Given the description of an element on the screen output the (x, y) to click on. 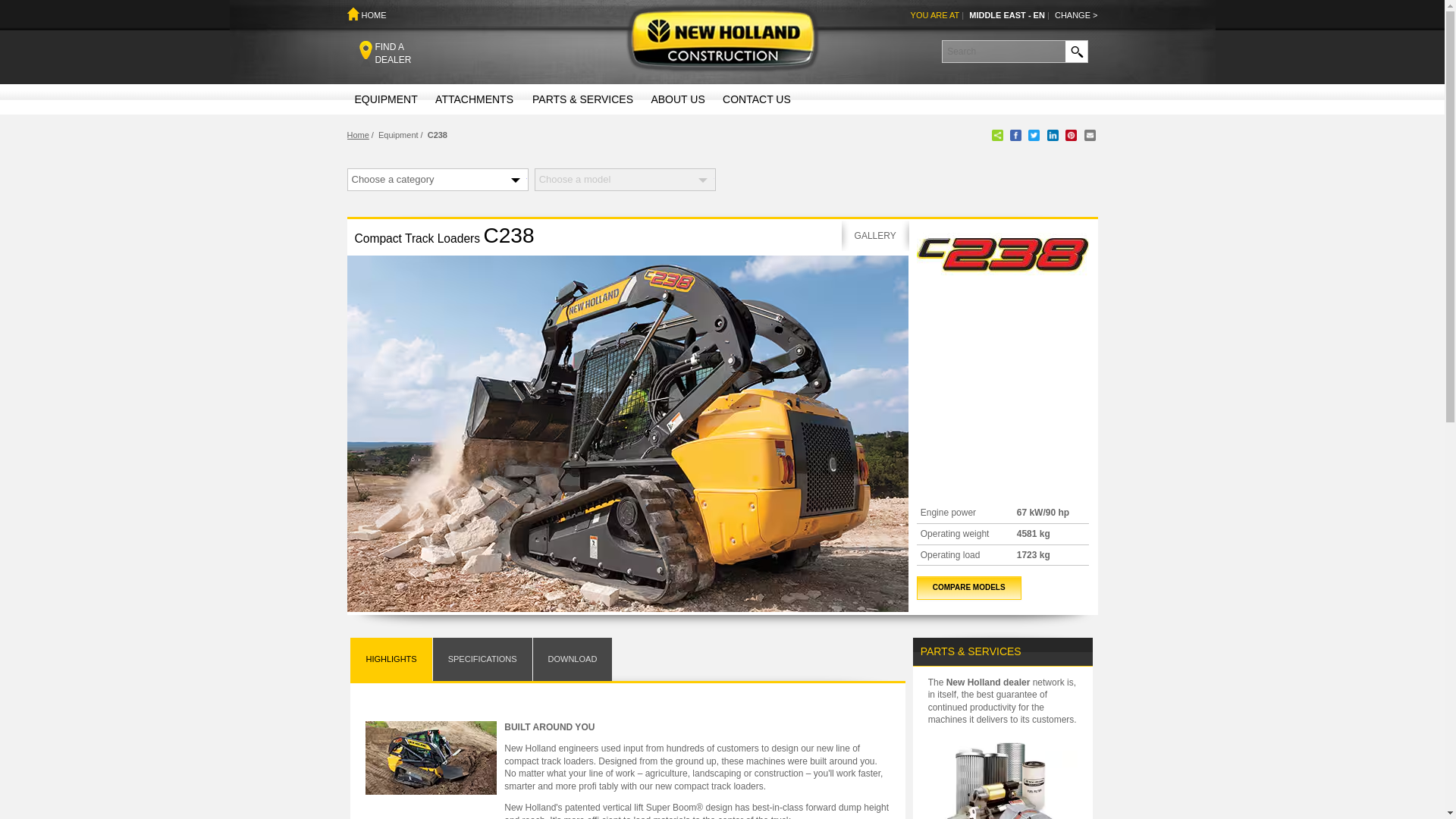
HOME (367, 15)
EQUIPMENT (384, 55)
Cerca (385, 99)
Cerca (1075, 51)
Cerca (1075, 51)
ATTACHMENTS (1075, 51)
